Given the description of an element on the screen output the (x, y) to click on. 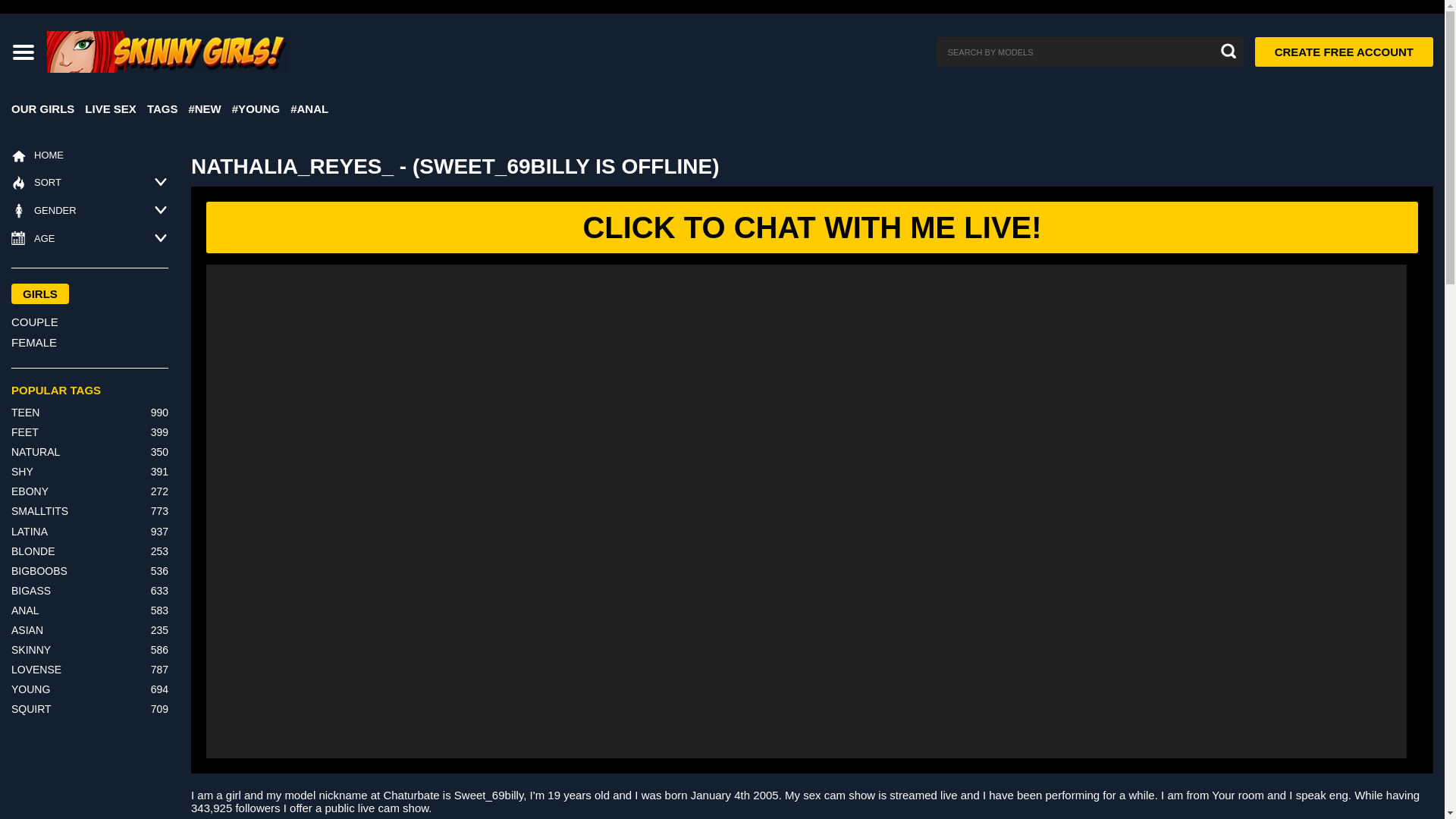
AGE (33, 238)
HOME (37, 155)
NATURAL (35, 451)
FEET (25, 431)
COUPLE (89, 322)
FEMALE (89, 342)
GIRLS (39, 293)
TAGS (162, 113)
GENDER (44, 210)
TEEN (25, 412)
